Given the description of an element on the screen output the (x, y) to click on. 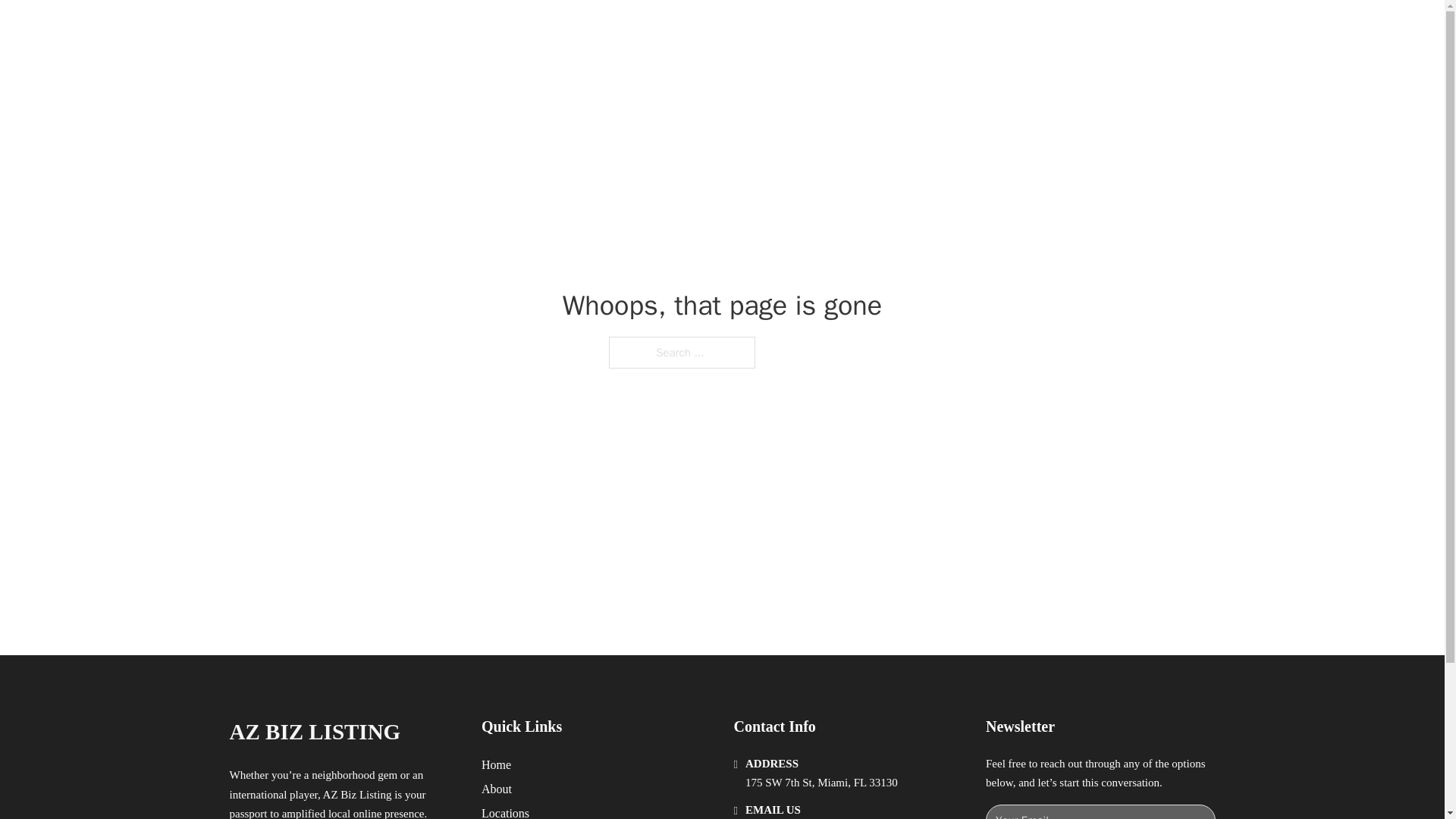
LOCATIONS (990, 29)
AZ BIZ LISTING (387, 28)
HOME (919, 29)
About (496, 788)
AZ BIZ LISTING (314, 732)
Locations (505, 811)
Home (496, 764)
